Given the description of an element on the screen output the (x, y) to click on. 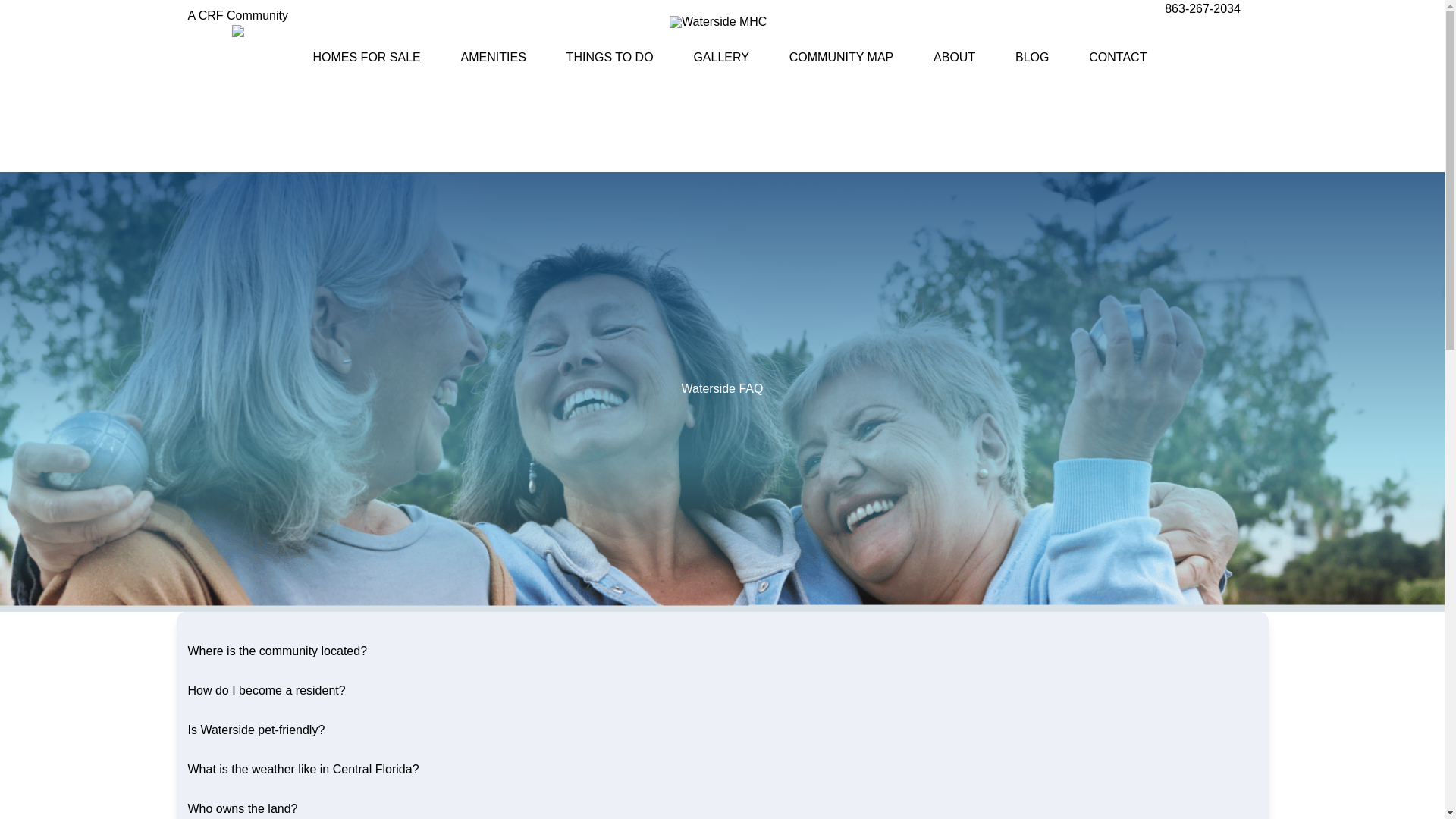
AMENITIES (493, 56)
THINGS TO DO (609, 56)
Newsletter Sign Up (1202, 33)
BLOG (1031, 56)
863-267-2034 (1202, 9)
HOMES FOR SALE (366, 56)
COMMUNITY MAP (841, 56)
GALLERY (721, 56)
ABOUT (954, 56)
CONTACT (1118, 56)
